Given the description of an element on the screen output the (x, y) to click on. 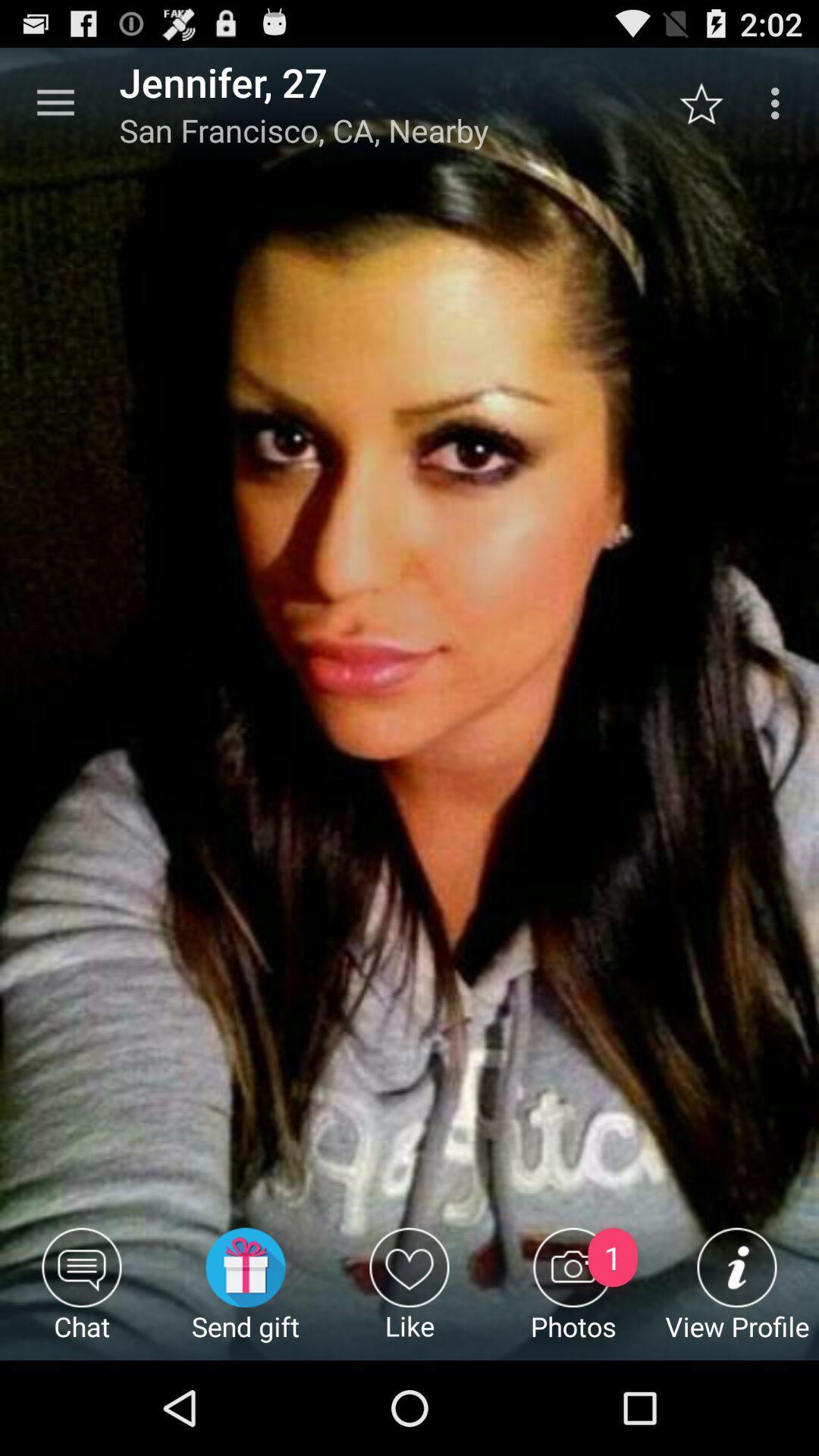
tap the item next to like item (245, 1293)
